Given the description of an element on the screen output the (x, y) to click on. 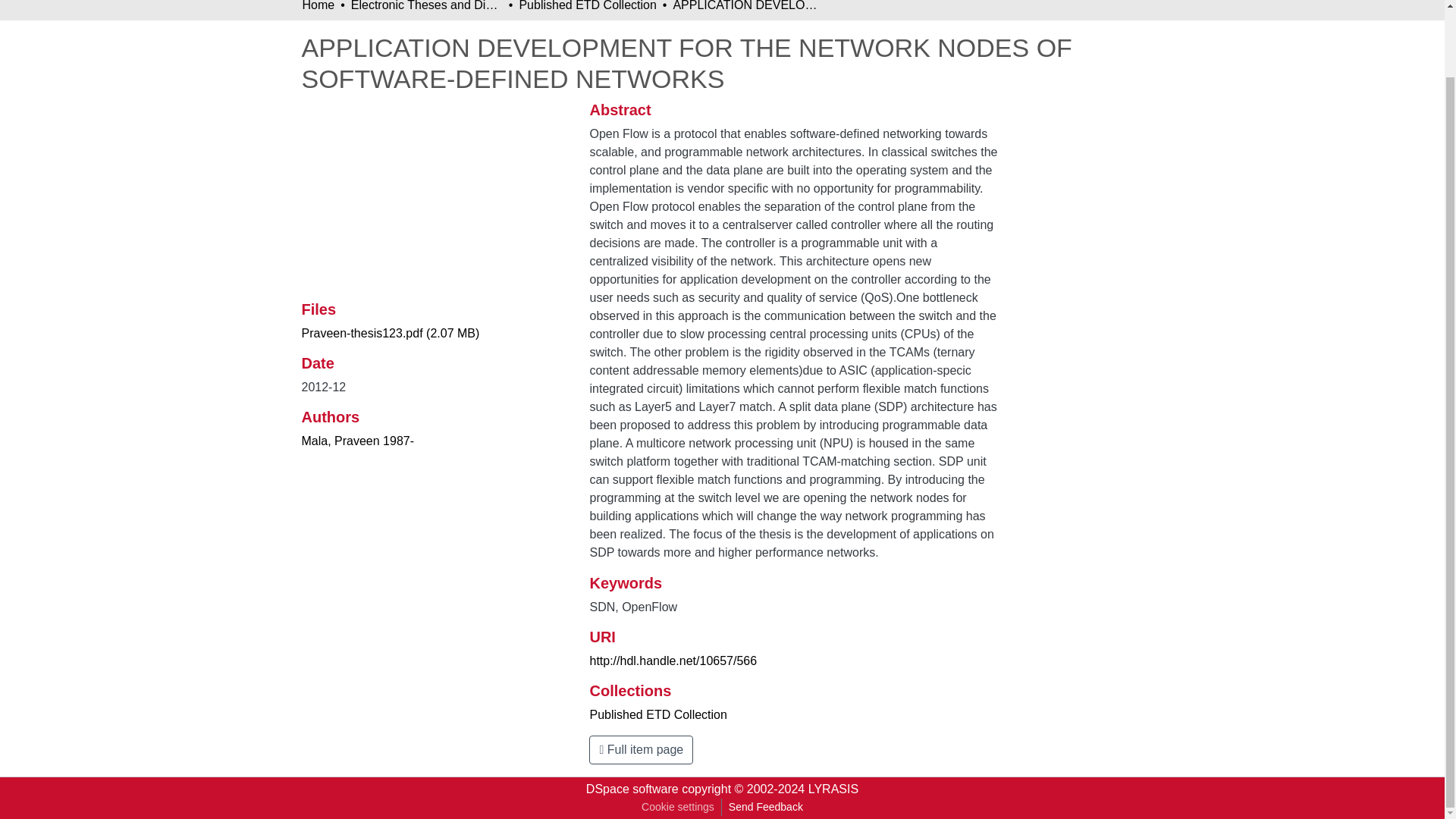
DSpace software (632, 788)
Mala, Praveen 1987- (357, 440)
Published ETD Collection (657, 714)
Full item page (641, 749)
Home (317, 7)
Published ETD Collection (587, 7)
Cookie settings (677, 806)
LYRASIS (833, 788)
Send Feedback (765, 806)
